Given the description of an element on the screen output the (x, y) to click on. 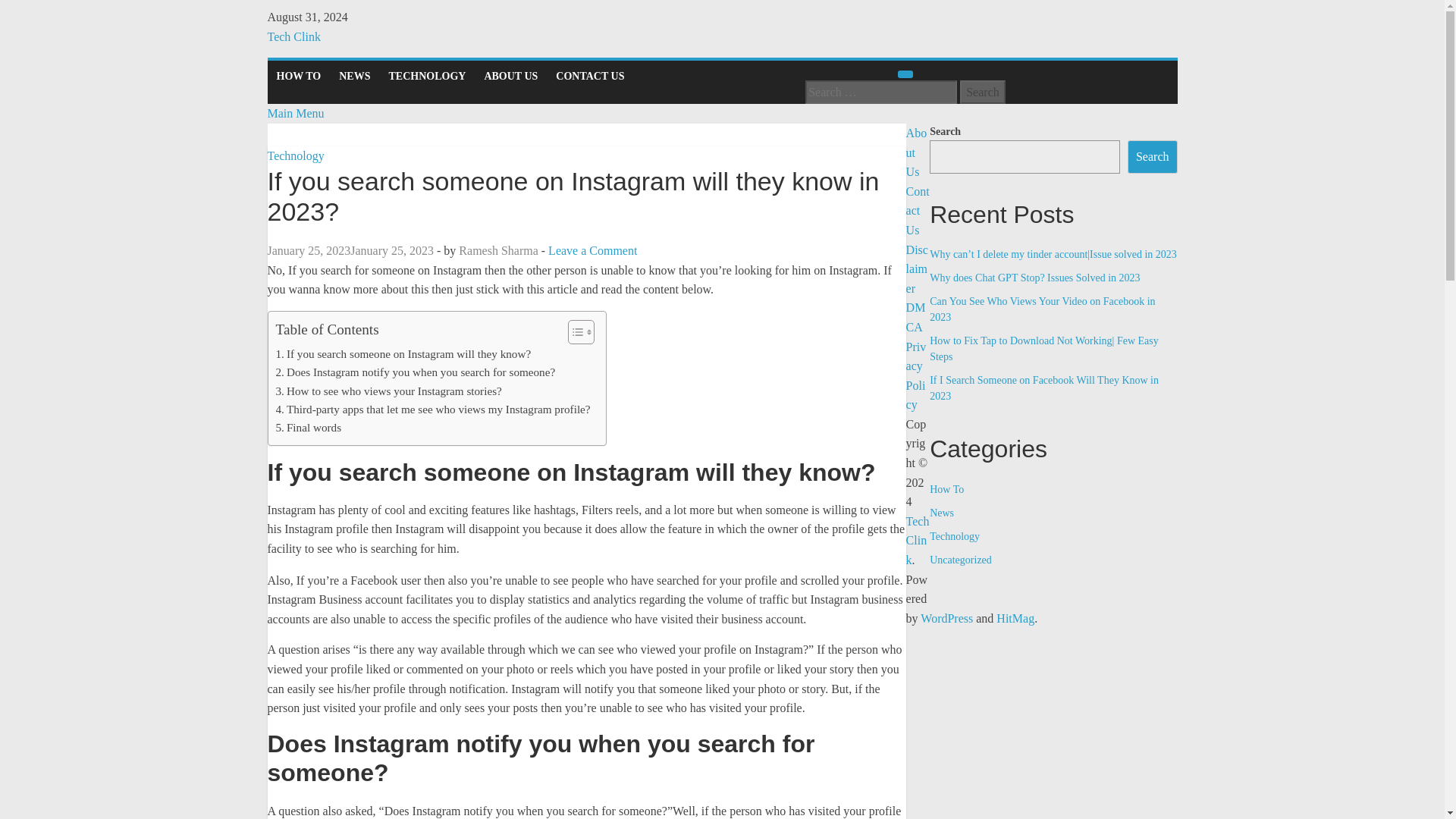
News (941, 512)
How To (946, 489)
Leave a Comment (592, 250)
Search (1151, 156)
Search (982, 92)
Final words (309, 427)
Tech Clink (293, 36)
If you search someone on Instagram will they know? (403, 353)
